Given the description of an element on the screen output the (x, y) to click on. 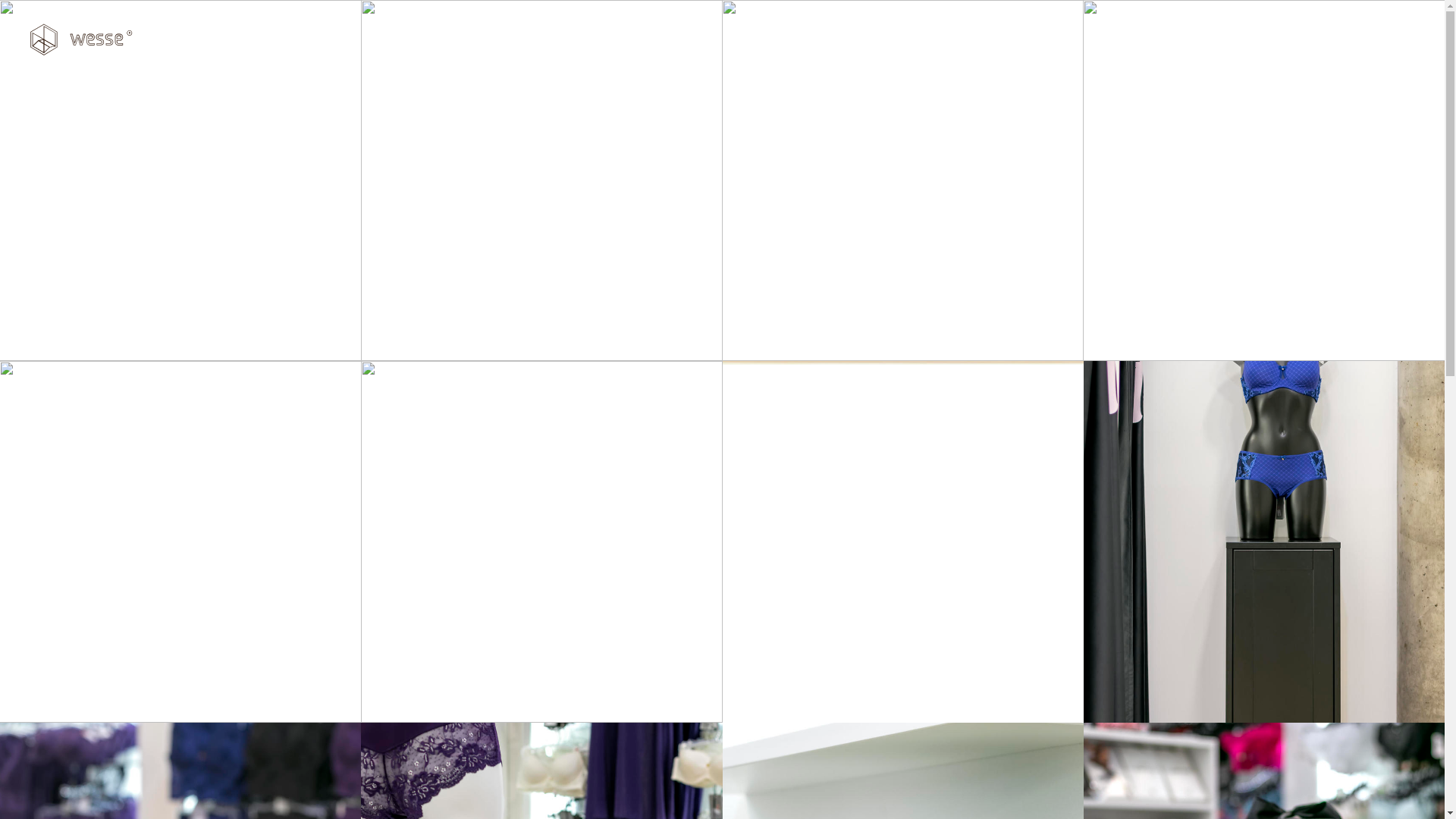
NEWS (1311, 252)
CUSTOM SOLUTIONS (1311, 124)
ENG (1354, 37)
Close navigation (1402, 29)
CONTACTS (1311, 188)
APPLIANCES (1311, 156)
Close navigation (1404, 38)
ABOUT US (1311, 220)
WESSE DESIGN (1311, 92)
